Given the description of an element on the screen output the (x, y) to click on. 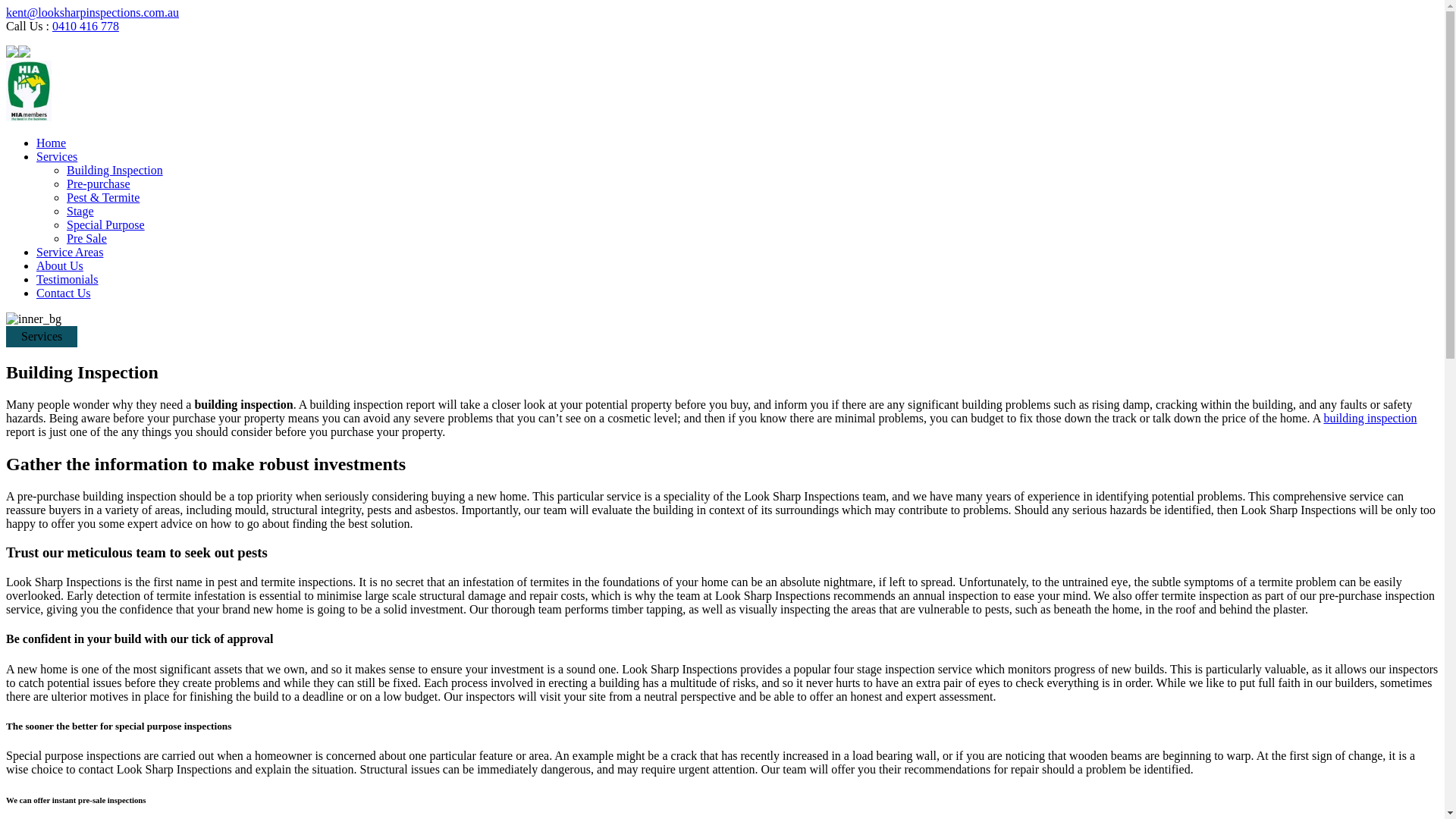
Facebook Element type: hover (24, 53)
Stage Element type: text (80, 210)
building inspection Element type: text (1369, 417)
Pest & Termite Element type: text (102, 197)
Contact Us Element type: text (63, 292)
Building Inspection Element type: text (114, 169)
Testimonials Element type: text (67, 279)
Special Purpose Element type: text (105, 224)
Services Element type: text (56, 156)
About Us Element type: text (59, 265)
Pre-purchase Element type: text (98, 183)
0410 416 778 Element type: text (85, 25)
Service Areas Element type: text (69, 251)
Home Element type: text (50, 142)
kent@looksharpinspections.com.au Element type: text (92, 12)
Google Plus Element type: hover (12, 53)
Pre Sale Element type: text (86, 238)
